Given the description of an element on the screen output the (x, y) to click on. 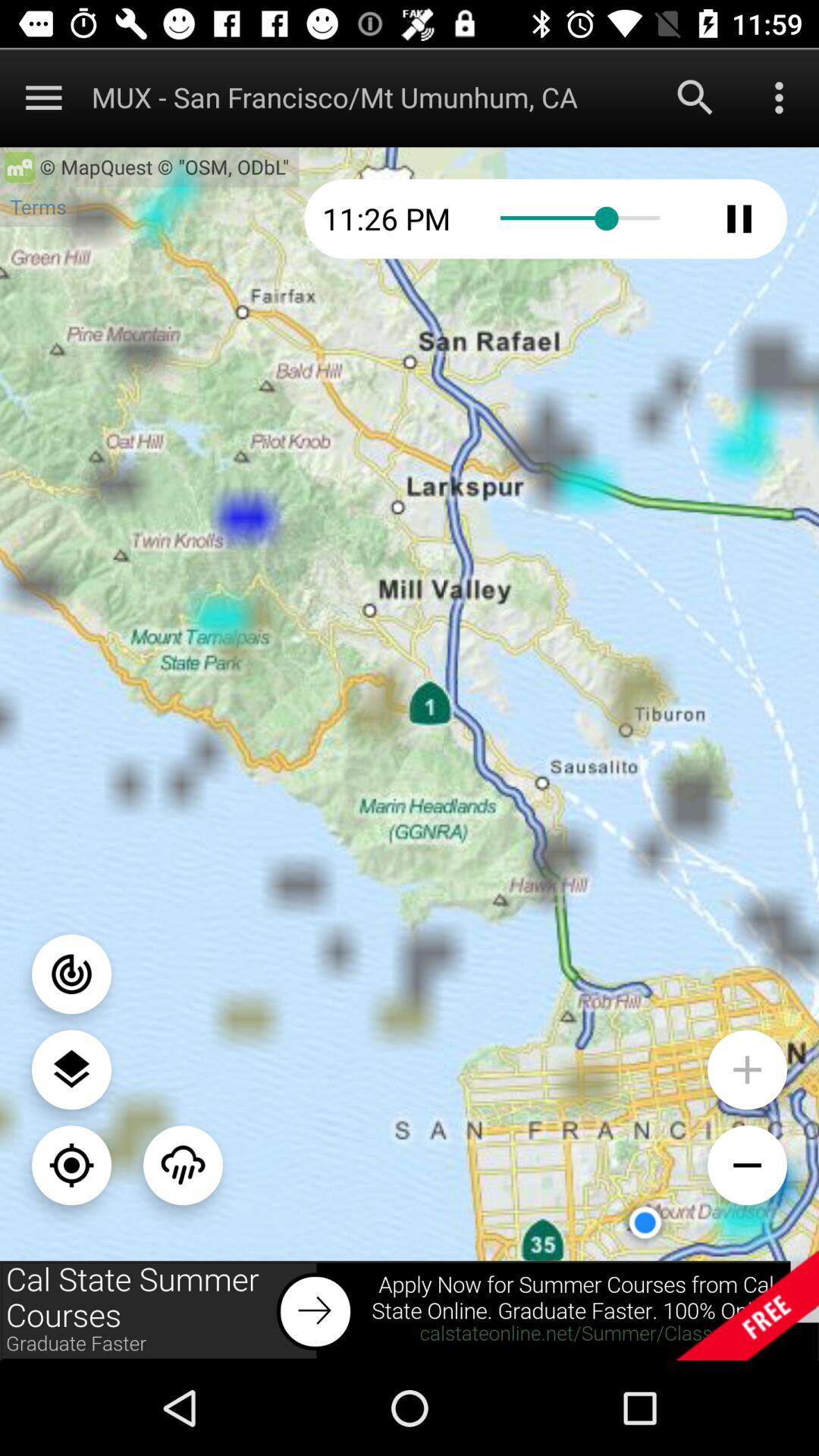
oveview option (779, 97)
